Given the description of an element on the screen output the (x, y) to click on. 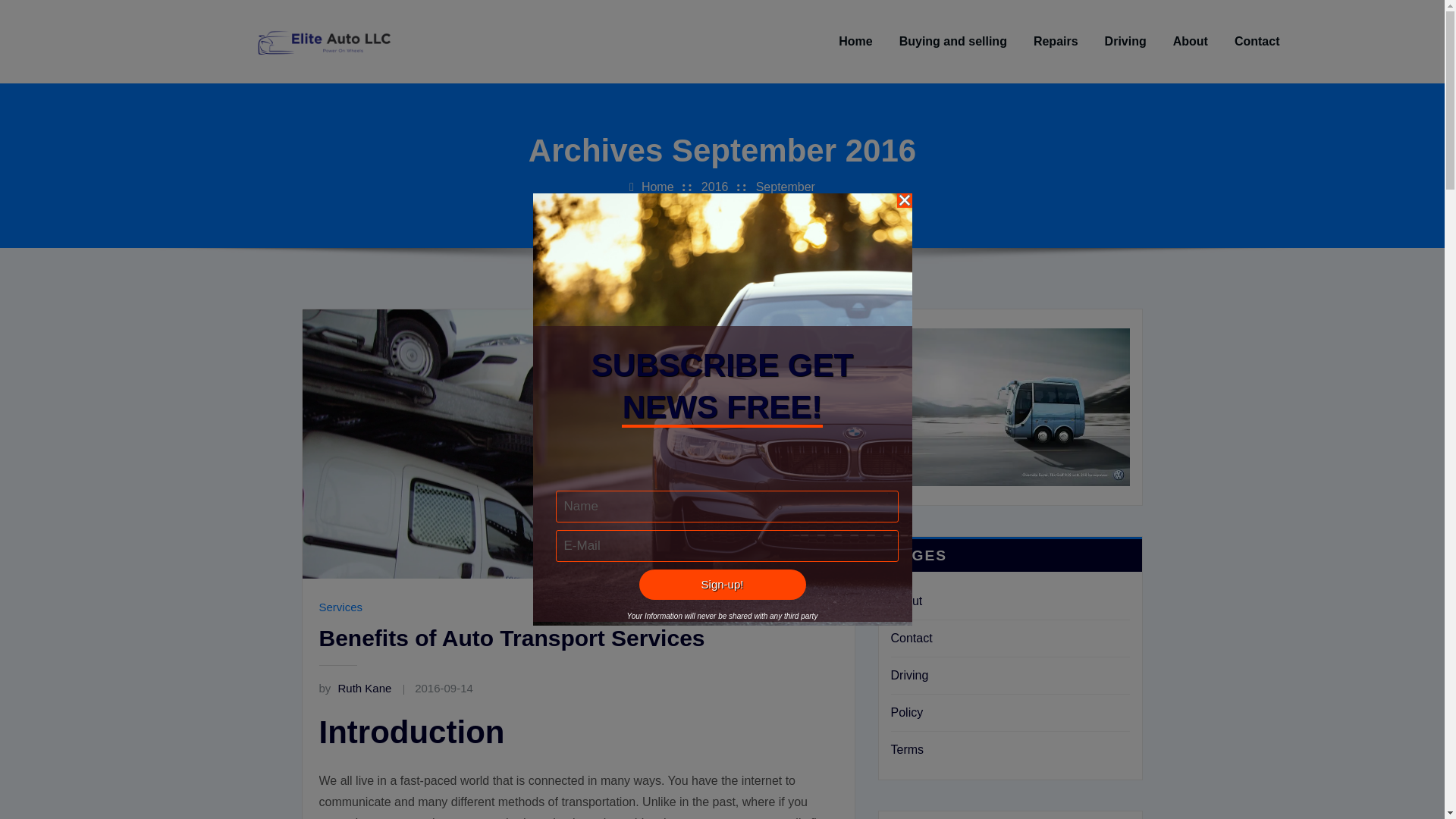
About (1190, 41)
2016 (715, 186)
Policy (906, 712)
by Ruth Kane (354, 687)
Driving (1126, 41)
September (785, 186)
Contact (1256, 41)
Terms (906, 748)
Contact (910, 637)
Home (658, 186)
2016-09-14 (443, 687)
About (905, 600)
Benefits of Auto Transport Services (511, 637)
Driving (908, 675)
Services (340, 606)
